Given the description of an element on the screen output the (x, y) to click on. 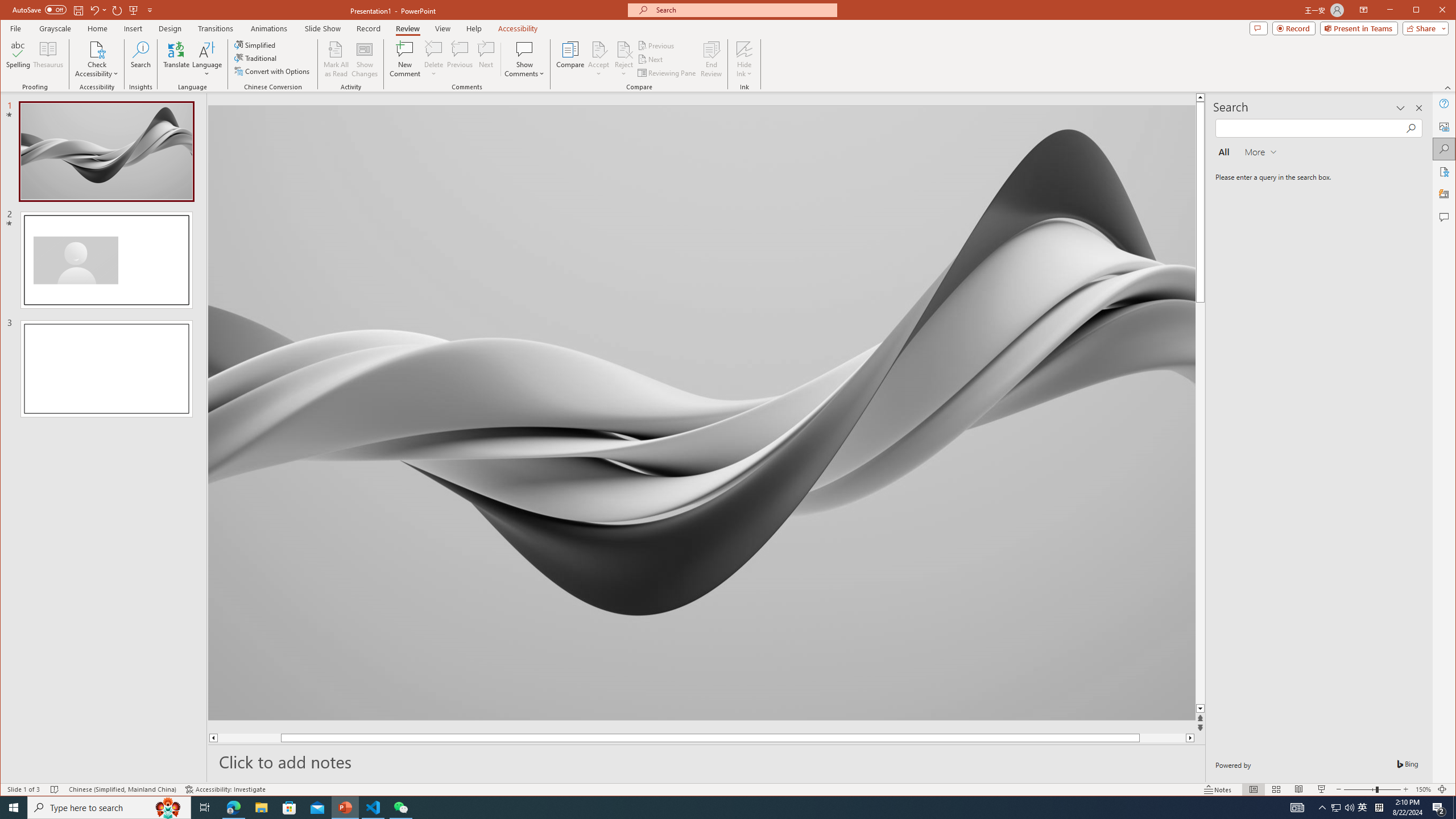
Simplified (255, 44)
Mark All as Read (335, 59)
